Given the description of an element on the screen output the (x, y) to click on. 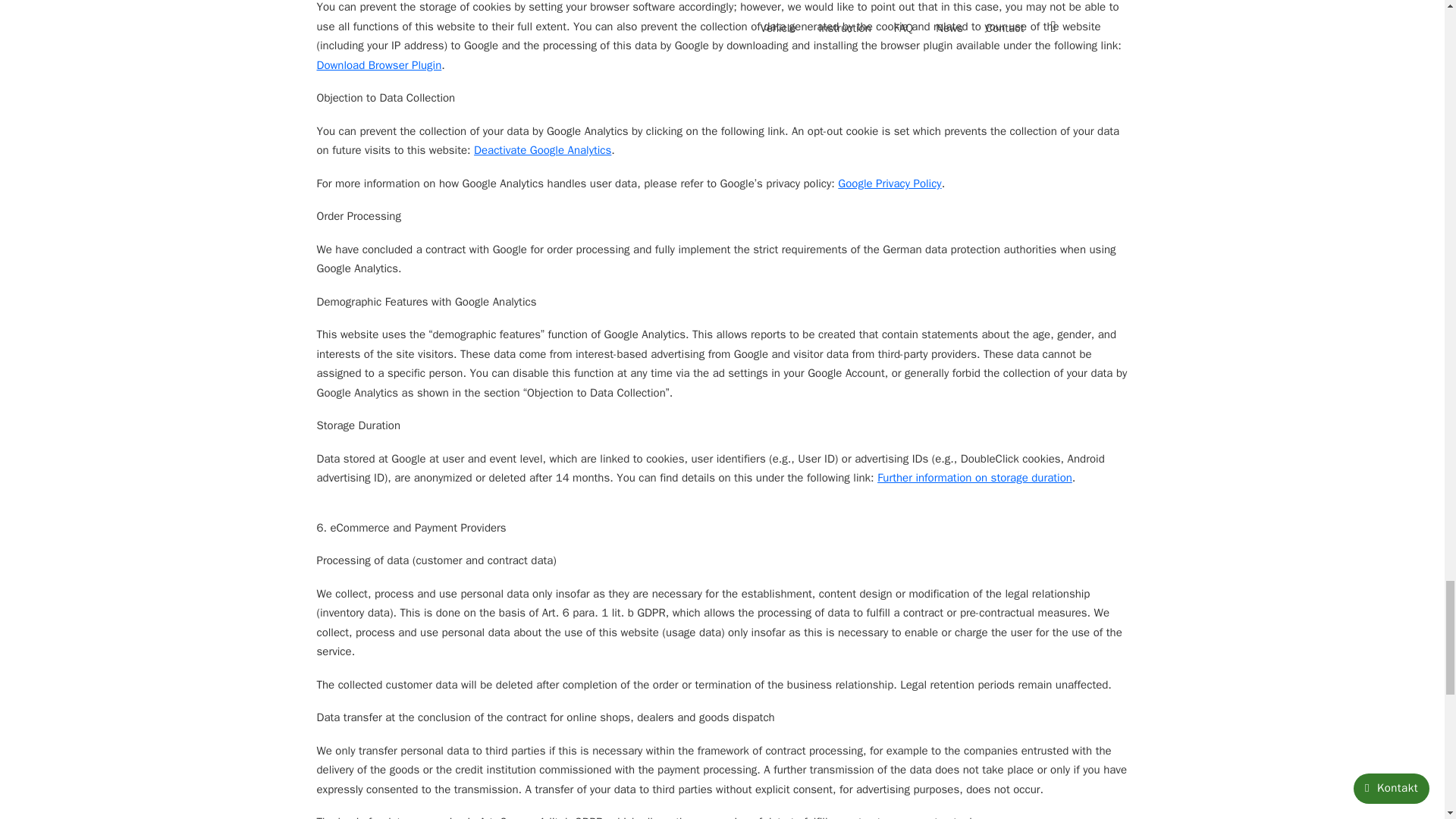
Google Privacy Policy (889, 183)
Download Browser Plugin (379, 65)
Further information on storage duration (974, 477)
Deactivate Google Analytics (542, 150)
